Given the description of an element on the screen output the (x, y) to click on. 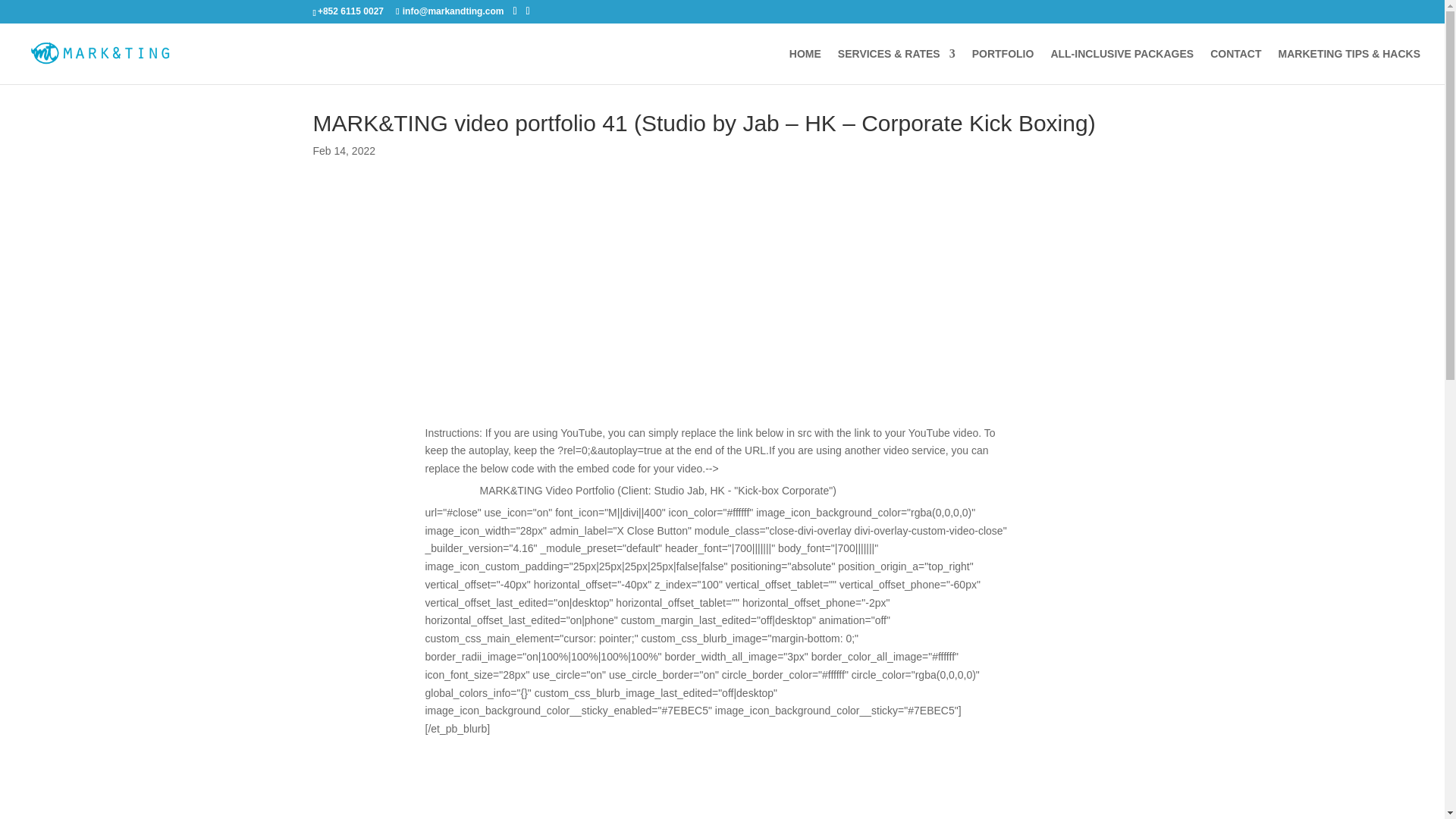
PORTFOLIO (1002, 66)
ALL-INCLUSIVE PACKAGES (1121, 66)
HOME (805, 66)
CONTACT (1234, 66)
